Given the description of an element on the screen output the (x, y) to click on. 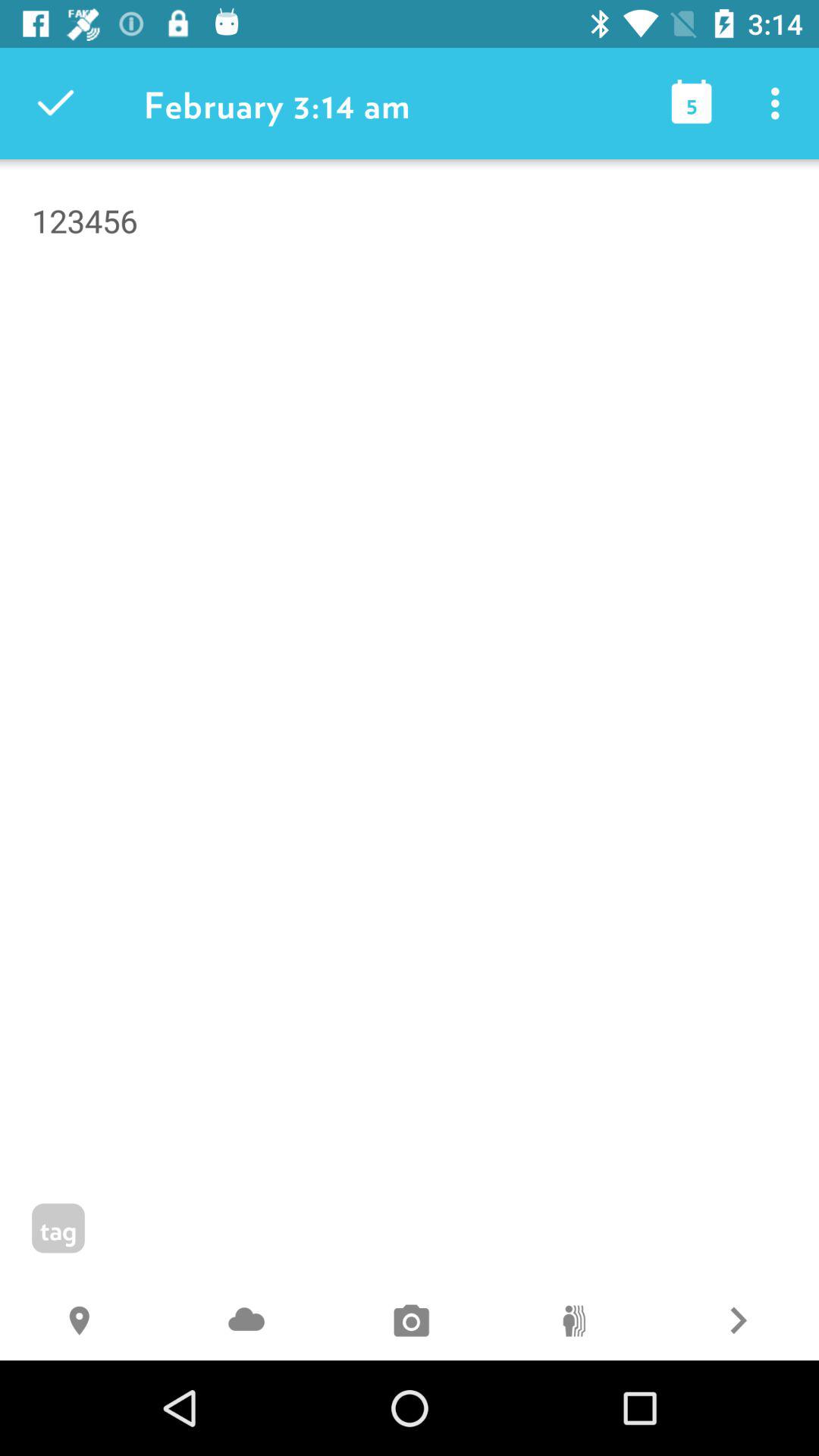
select item below the 123456 icon (737, 1322)
